Given the description of an element on the screen output the (x, y) to click on. 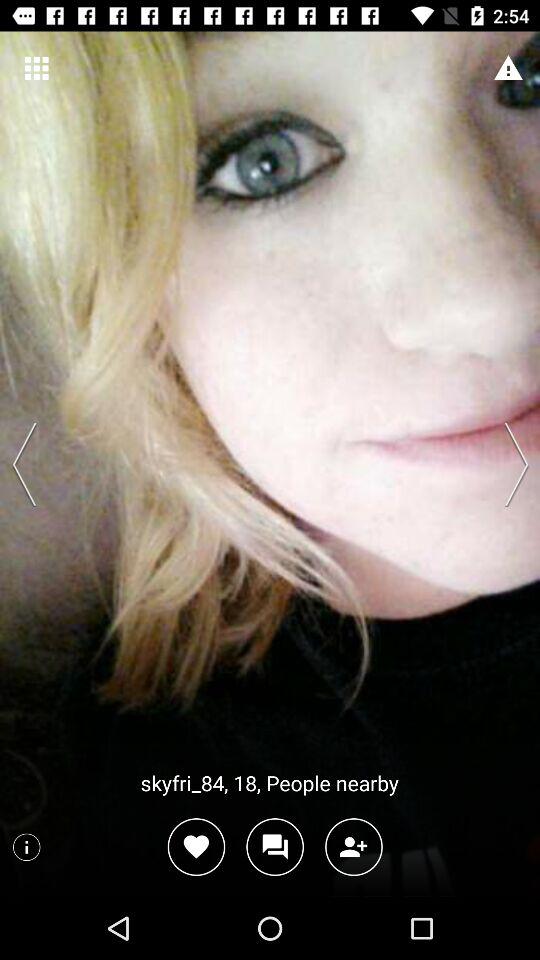
go forward (510, 464)
